Given the description of an element on the screen output the (x, y) to click on. 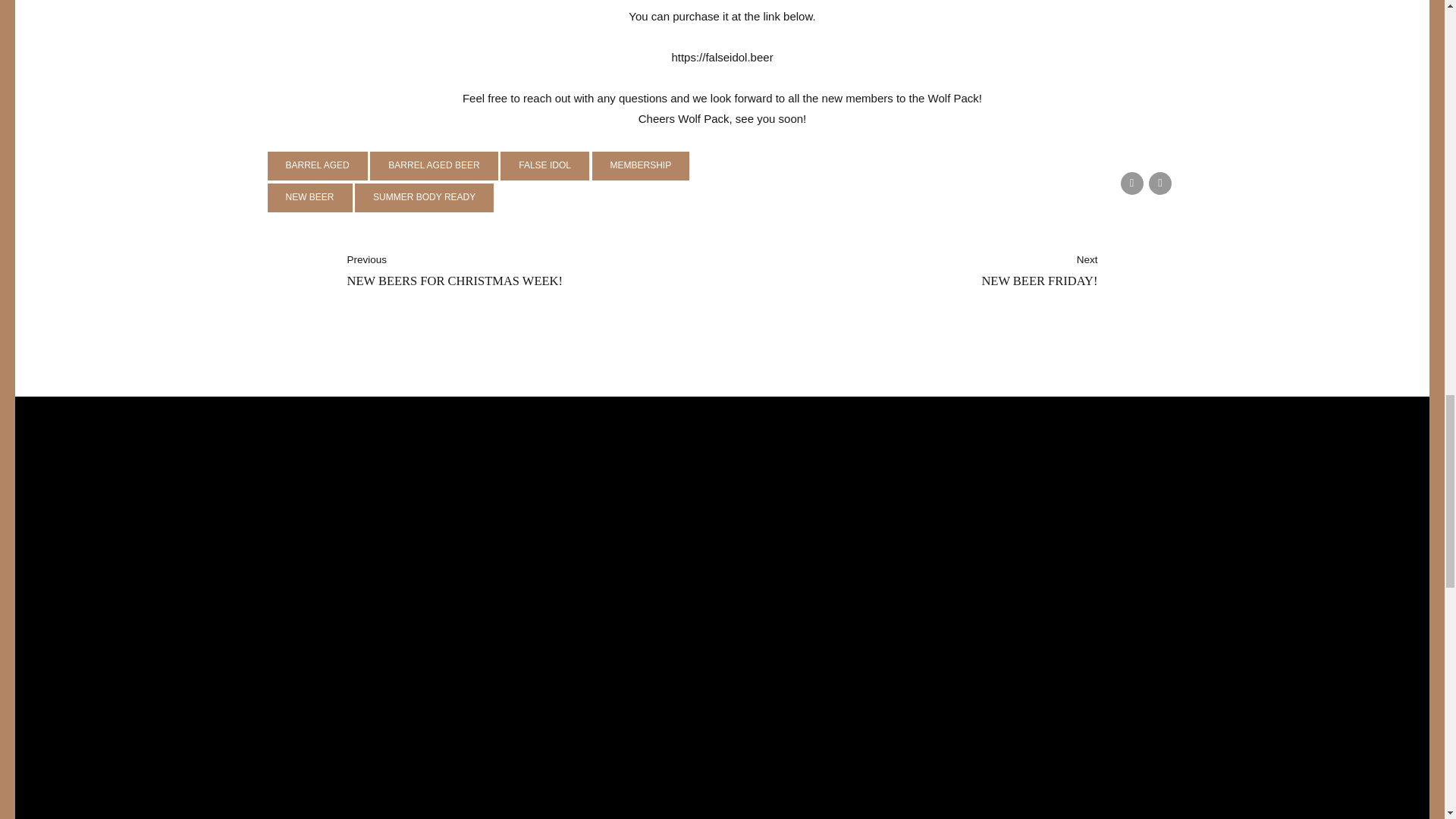
MEMBERSHIP (641, 165)
SUMMER BODY READY (424, 197)
NEW BEER (309, 197)
BARREL AGED (316, 165)
BARREL AGED BEER (433, 165)
Share on Facebook (494, 271)
Share on Twitter (1131, 182)
FALSE IDOL (1160, 182)
